Given the description of an element on the screen output the (x, y) to click on. 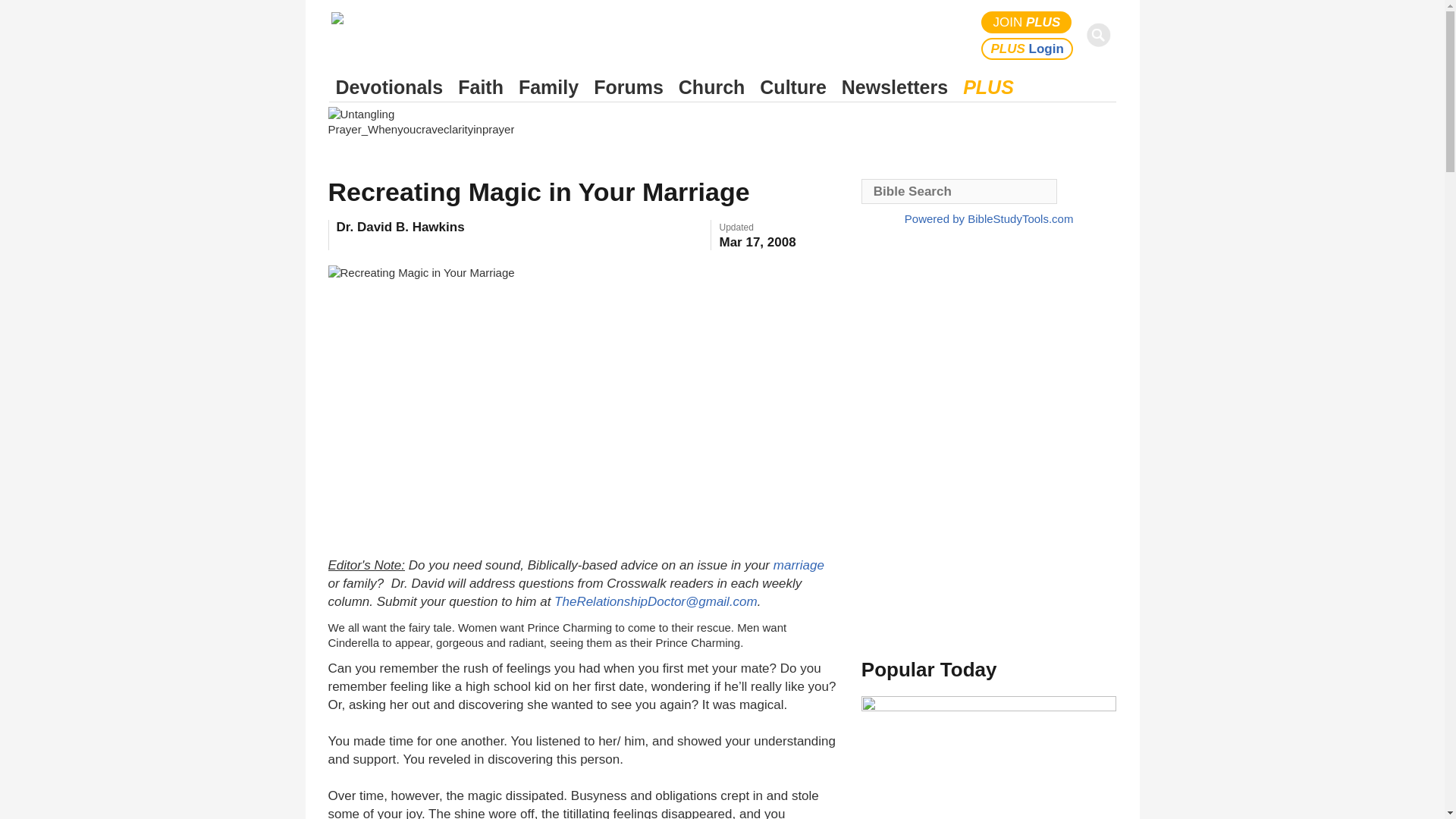
Devotionals (389, 87)
Join Plus (1026, 22)
Family (548, 87)
PLUS Login (1026, 48)
JOIN PLUS (1026, 22)
Search (1101, 34)
Plus Login (1026, 48)
Faith (481, 87)
